Given the description of an element on the screen output the (x, y) to click on. 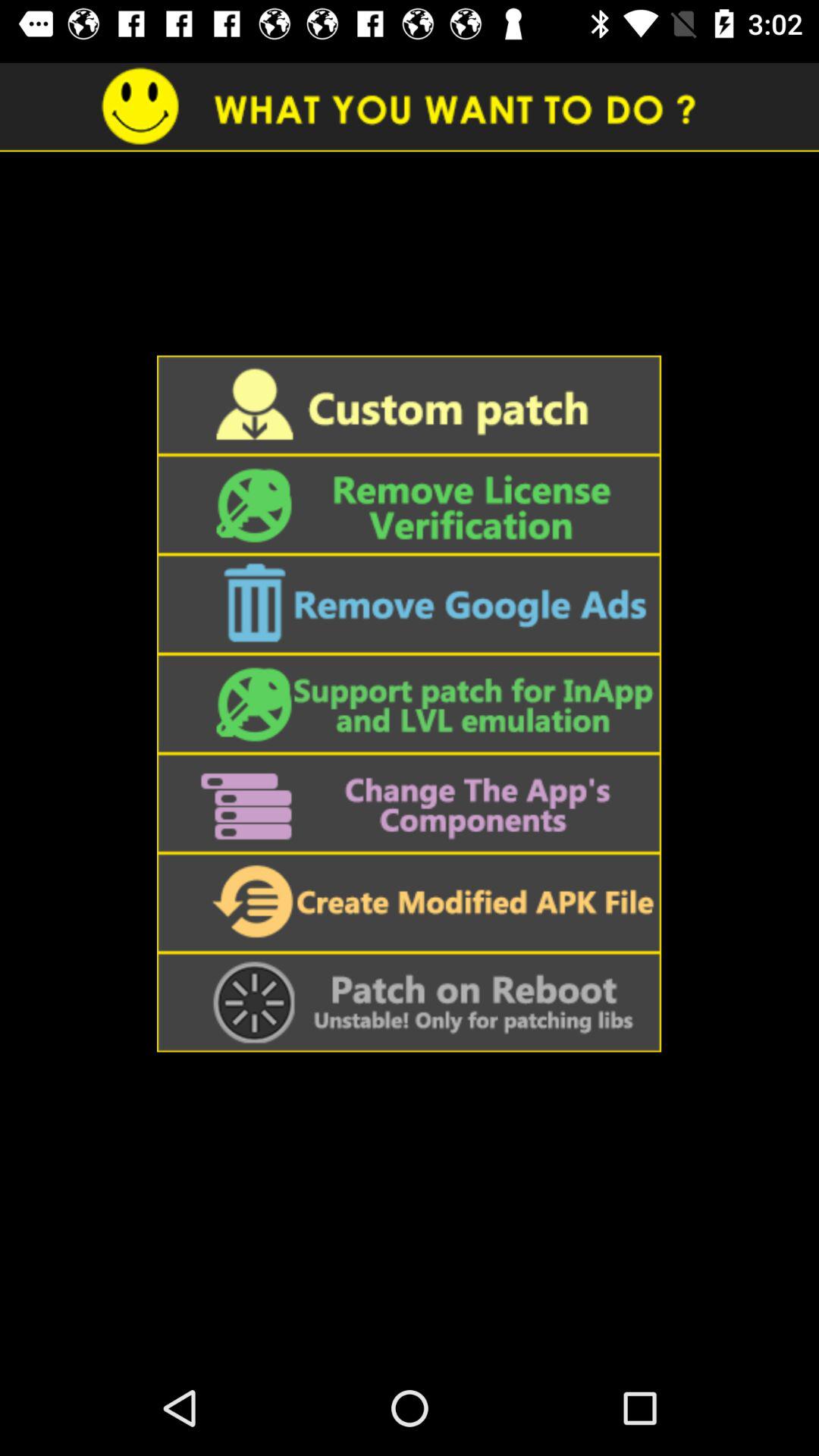
click on custom patch (408, 405)
